Given the description of an element on the screen output the (x, y) to click on. 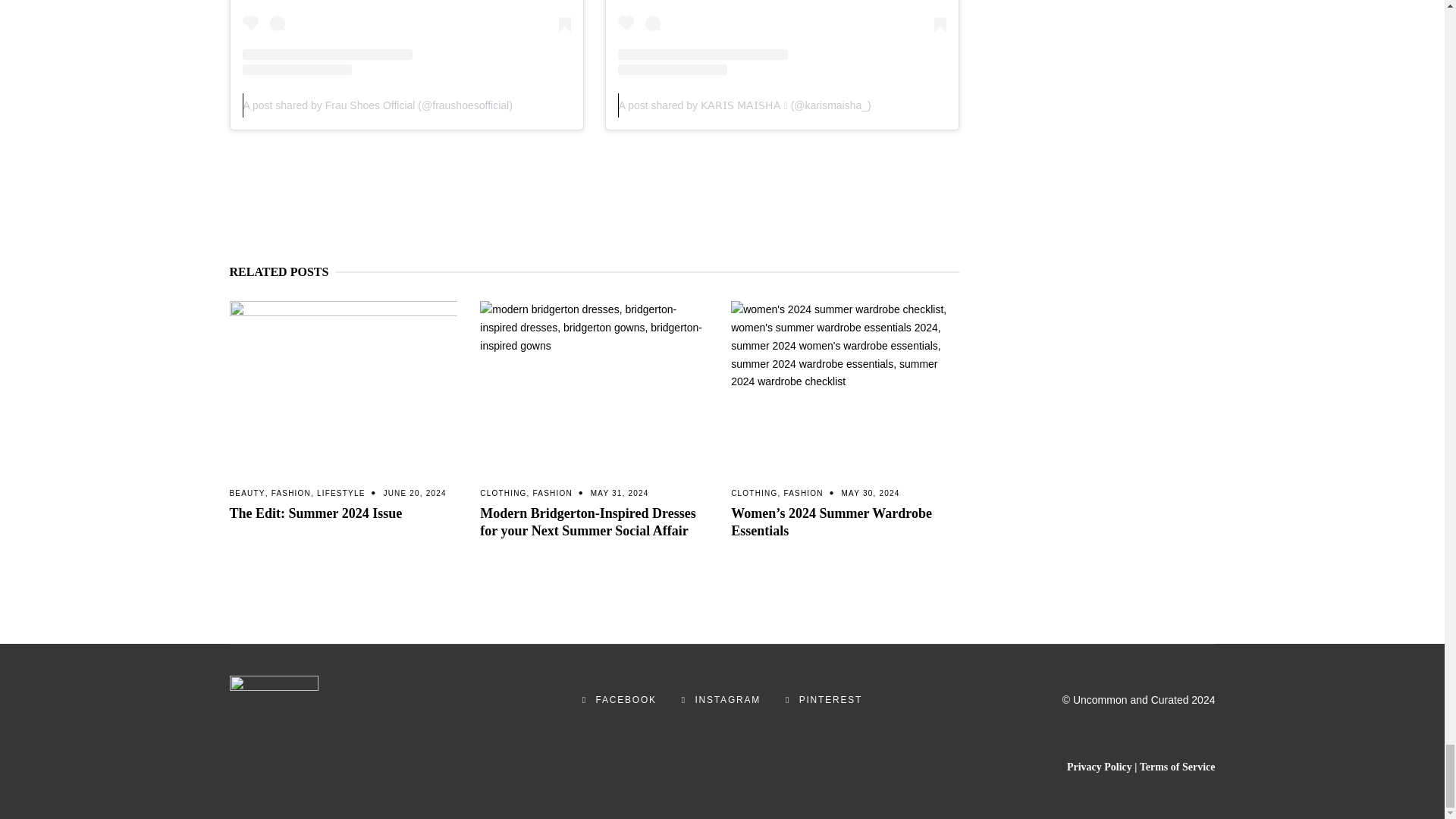
The Edit: Summer 2024 Issue (314, 513)
The Edit: Summer 2024 Issue (342, 385)
